Given the description of an element on the screen output the (x, y) to click on. 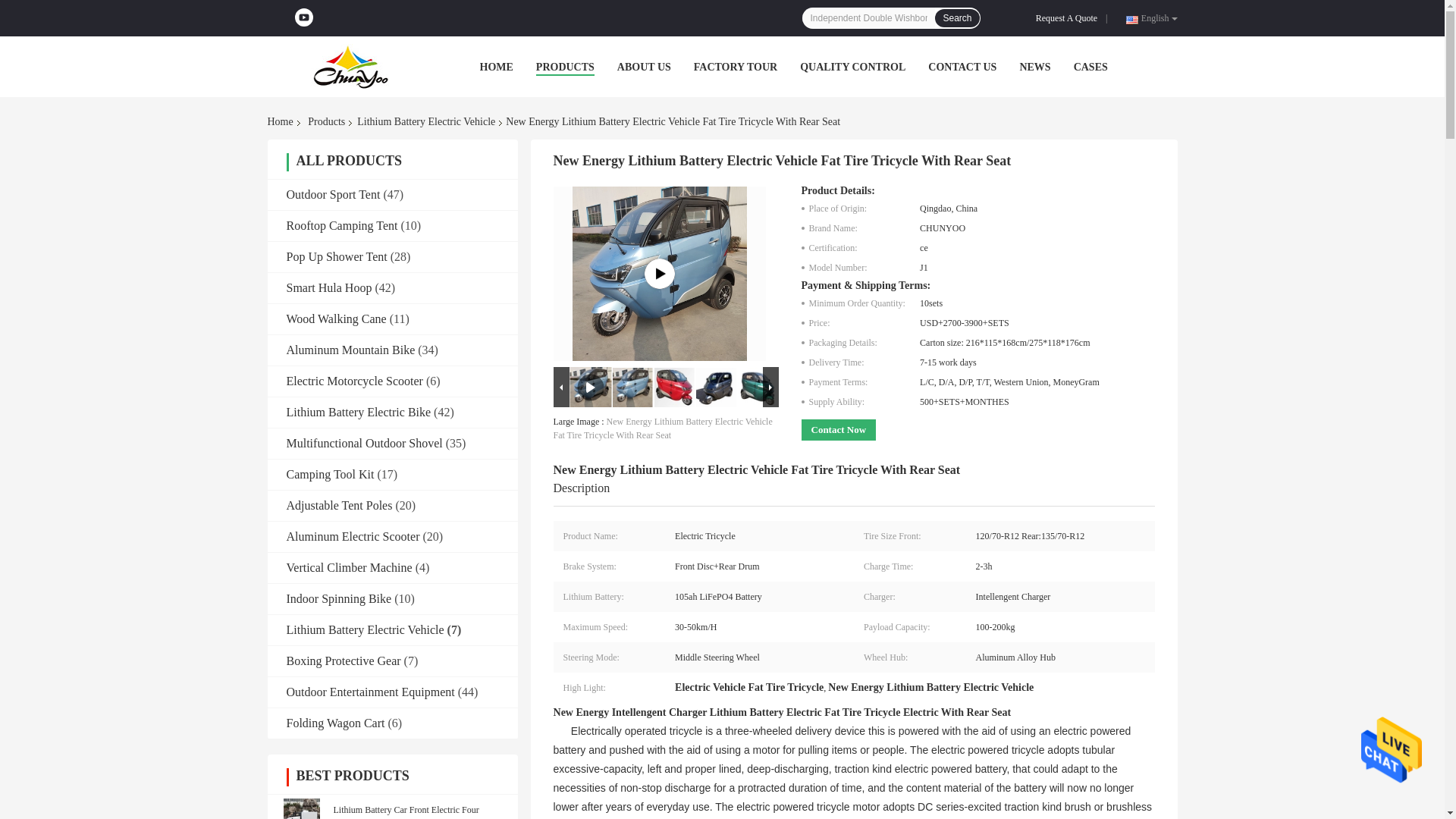
PRODUCTS (564, 66)
FACTORY TOUR (735, 66)
Home (282, 121)
HOME (495, 66)
NEWS (1034, 66)
Rooftop Camping Tent (341, 225)
Outdoor Sport Tent (333, 194)
Products (325, 121)
QINGDAO CHANGZHIYU TRADE CO., LTD. YouTube (303, 17)
CONTACT US (961, 66)
Search (956, 18)
CASES (1091, 66)
ABOUT US (644, 66)
Pop Up Shower Tent (336, 256)
Request A Quote (1069, 18)
